Given the description of an element on the screen output the (x, y) to click on. 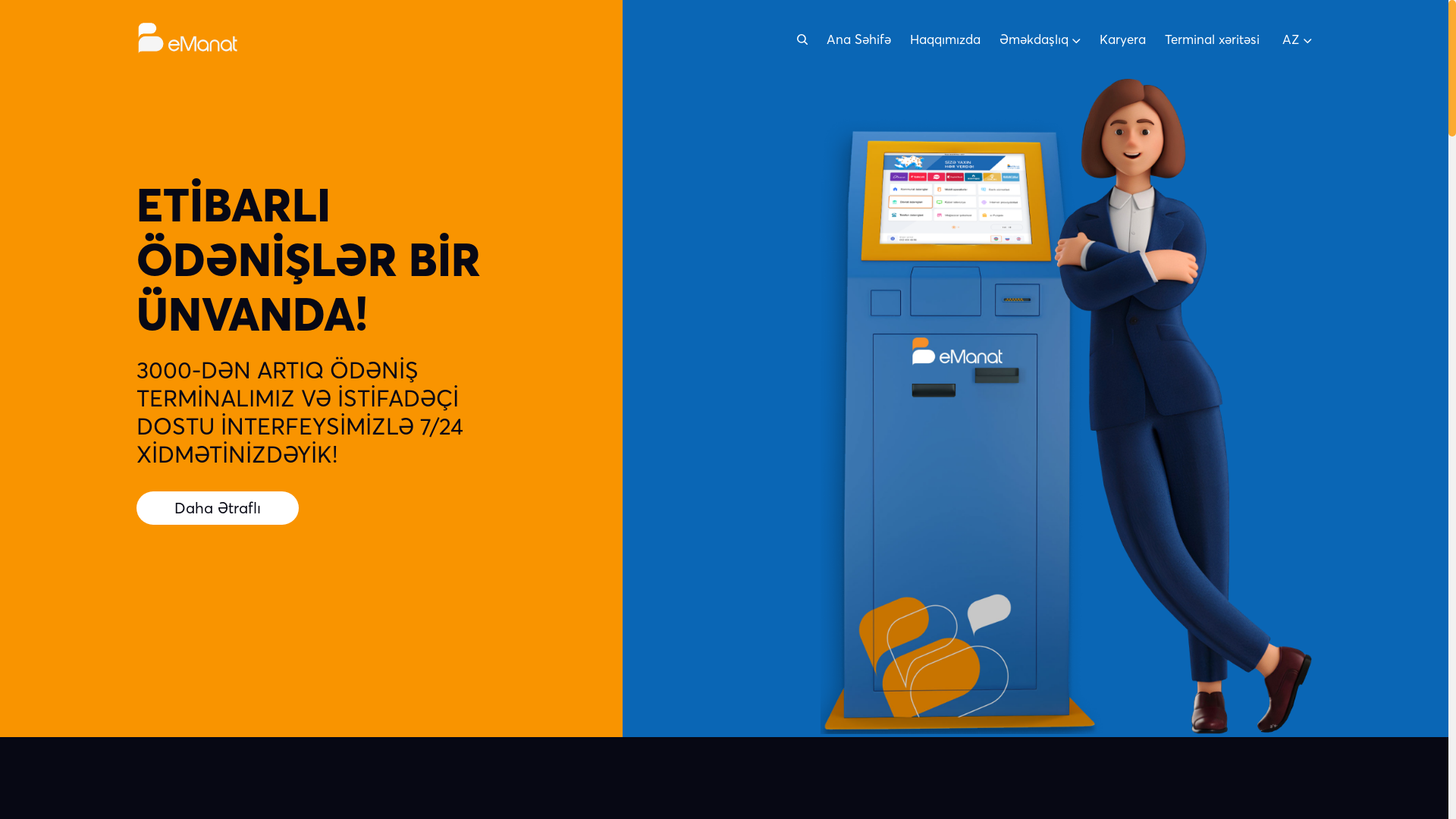
AZ Element type: text (1296, 39)
Karyera Element type: text (1122, 39)
